Given the description of an element on the screen output the (x, y) to click on. 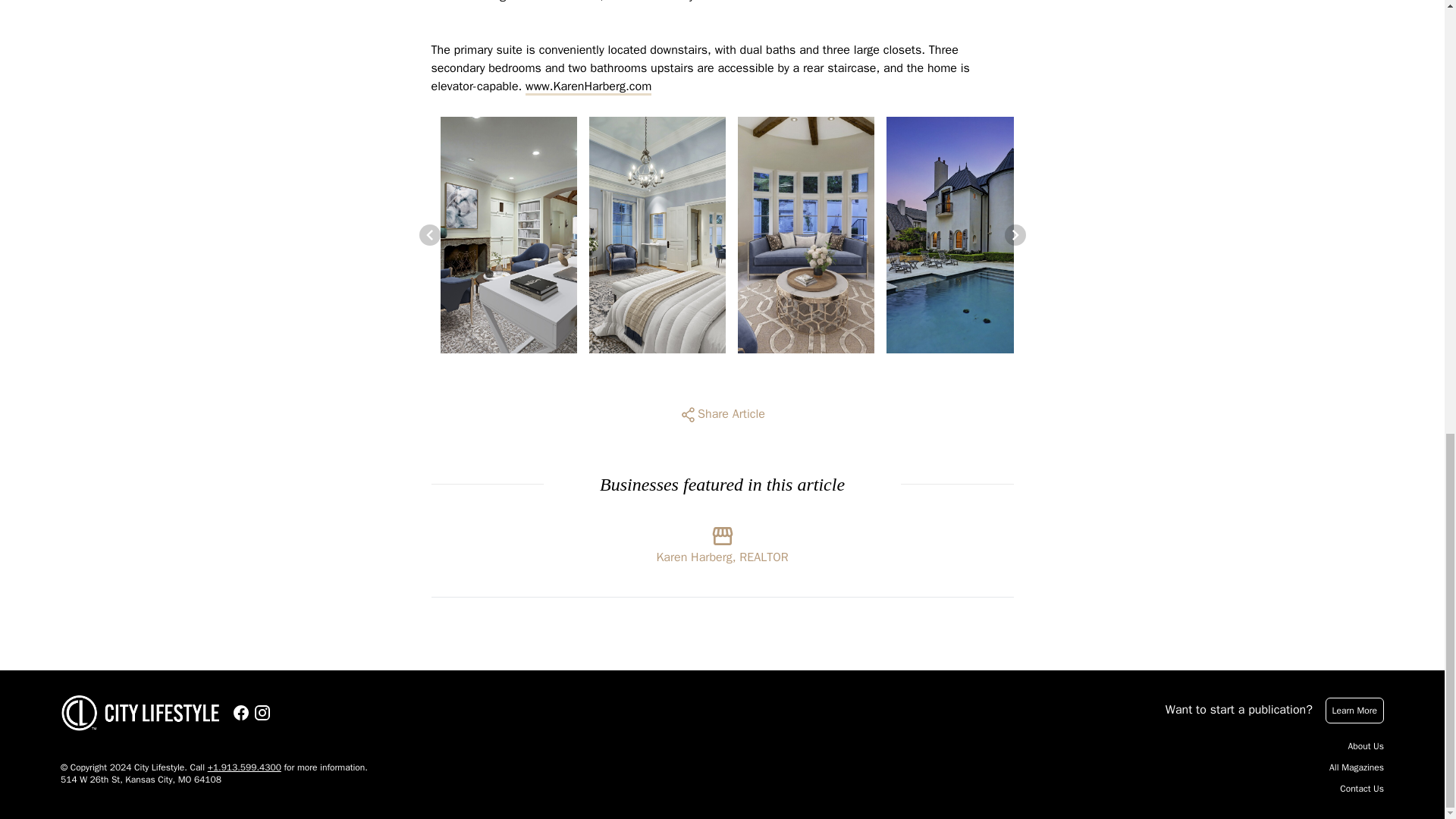
Contact Us (1361, 788)
www.KarenHarberg.com (587, 85)
About Us (1366, 746)
Learn More (1354, 710)
Karen Harberg, REALTOR (721, 540)
Share Article (722, 414)
All Magazines (1356, 767)
